Given the description of an element on the screen output the (x, y) to click on. 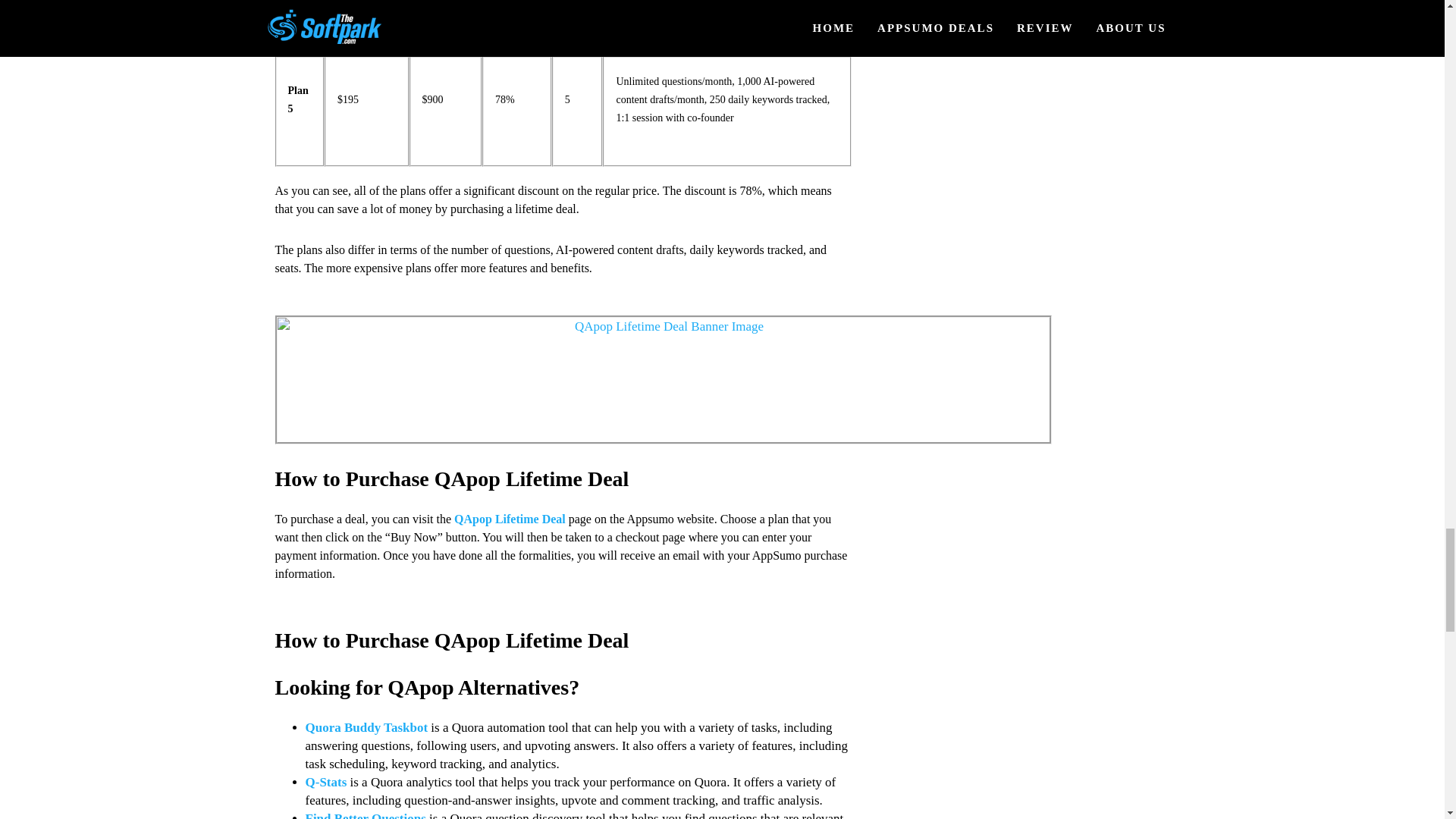
QApop Lifetime Deal (510, 518)
Q-Stats (325, 781)
Find Better Questions (364, 815)
Quora Buddy Taskbot (366, 727)
